Given the description of an element on the screen output the (x, y) to click on. 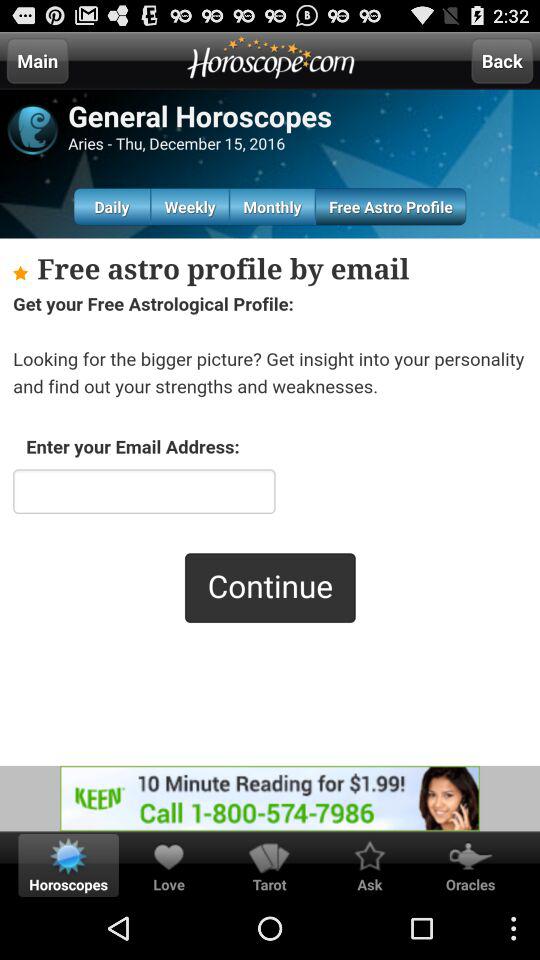
opens a advertisement (270, 798)
